Given the description of an element on the screen output the (x, y) to click on. 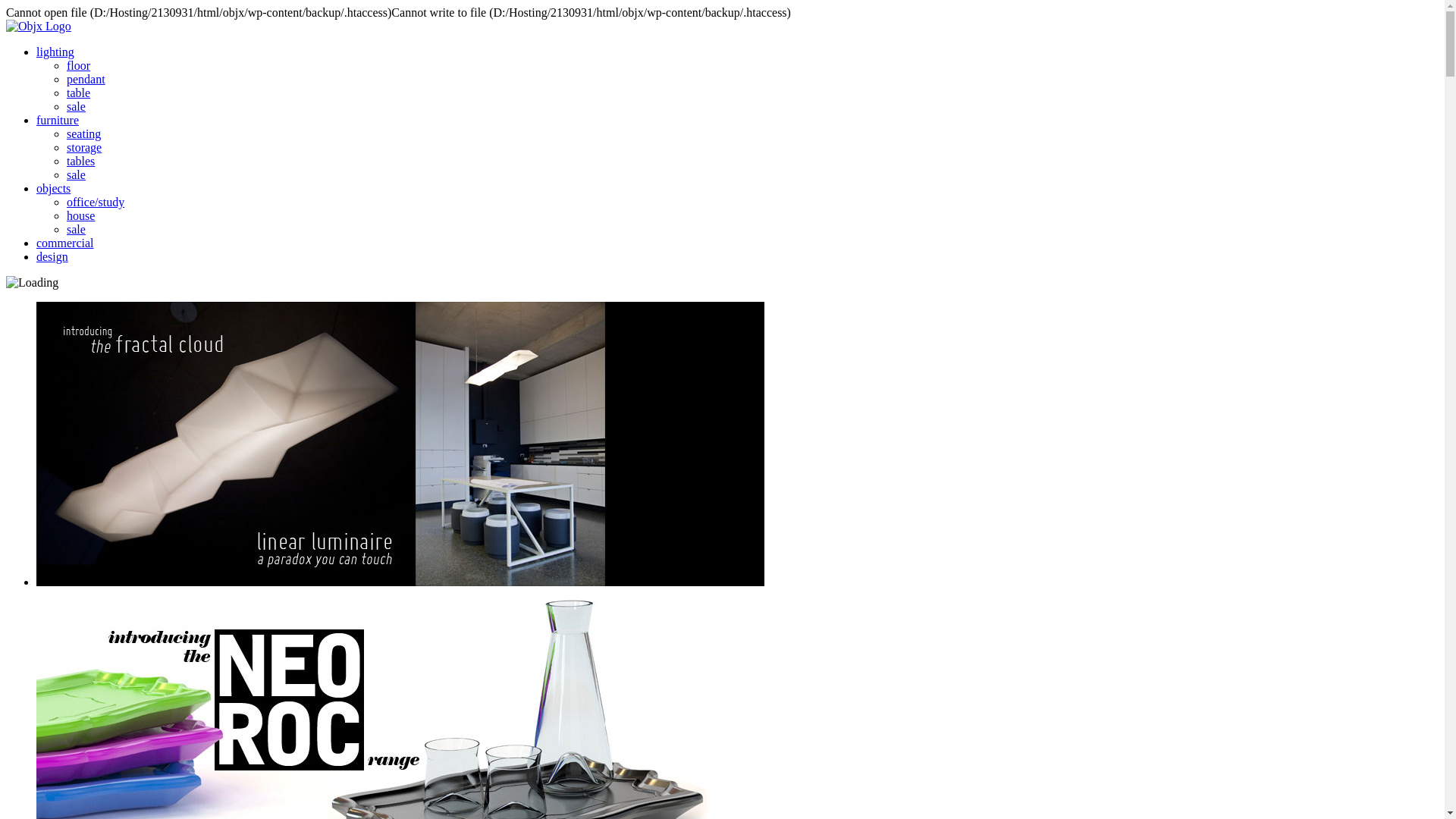
sale Element type: text (75, 228)
seating Element type: text (83, 133)
office/study Element type: text (95, 201)
design Element type: text (52, 256)
furniture Element type: text (57, 119)
pendant Element type: text (85, 78)
floor Element type: text (78, 65)
objects Element type: text (53, 188)
house Element type: text (80, 215)
table Element type: text (78, 92)
tables Element type: text (80, 160)
sale Element type: text (75, 106)
storage Element type: text (83, 147)
commercial Element type: text (65, 242)
sale Element type: text (75, 174)
lighting Element type: text (55, 51)
